Given the description of an element on the screen output the (x, y) to click on. 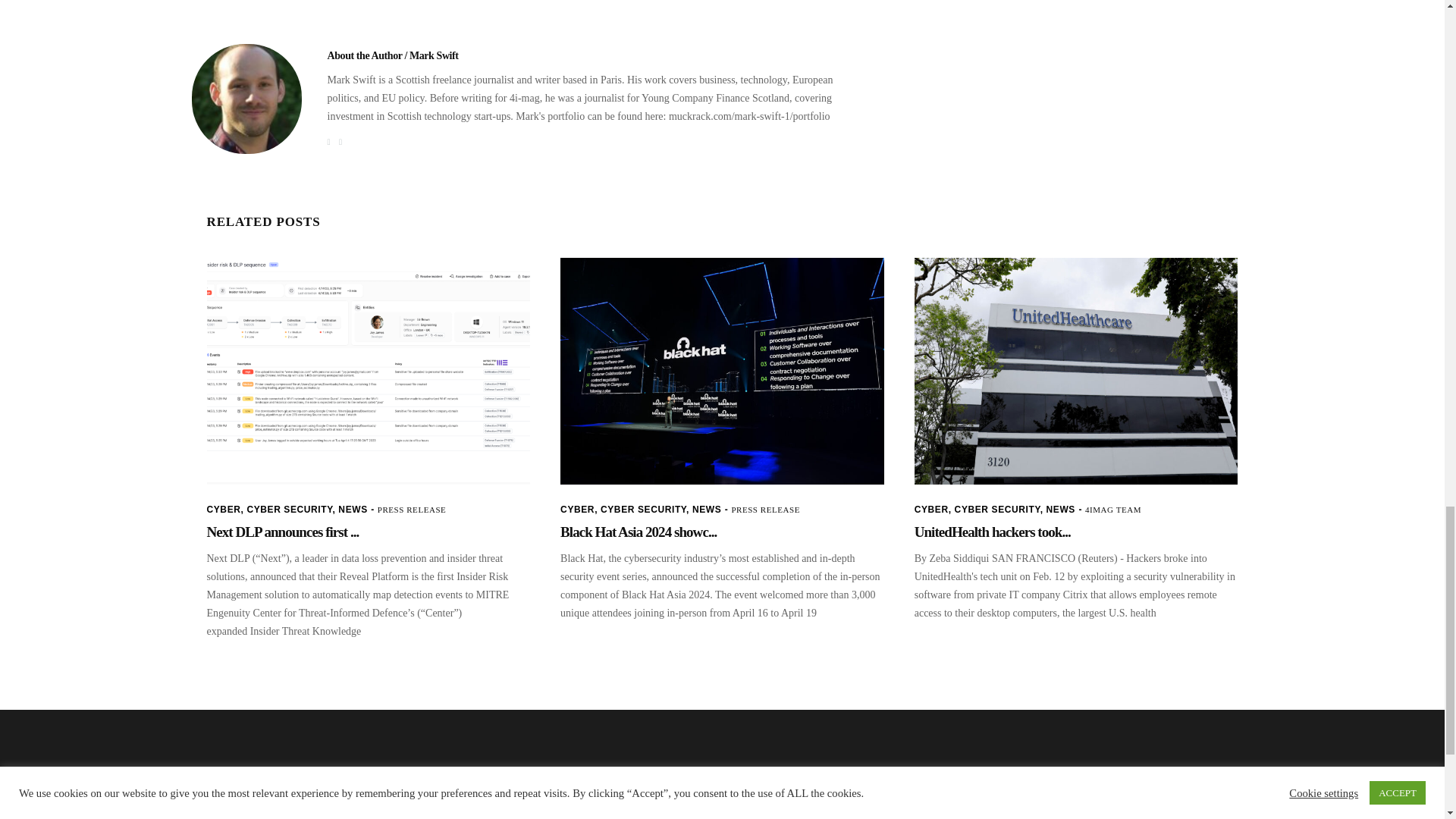
Mapping showcases promise in EU cybersecurity (392, 55)
Mapping showcases promise in EU cybersecurity (245, 98)
